Given the description of an element on the screen output the (x, y) to click on. 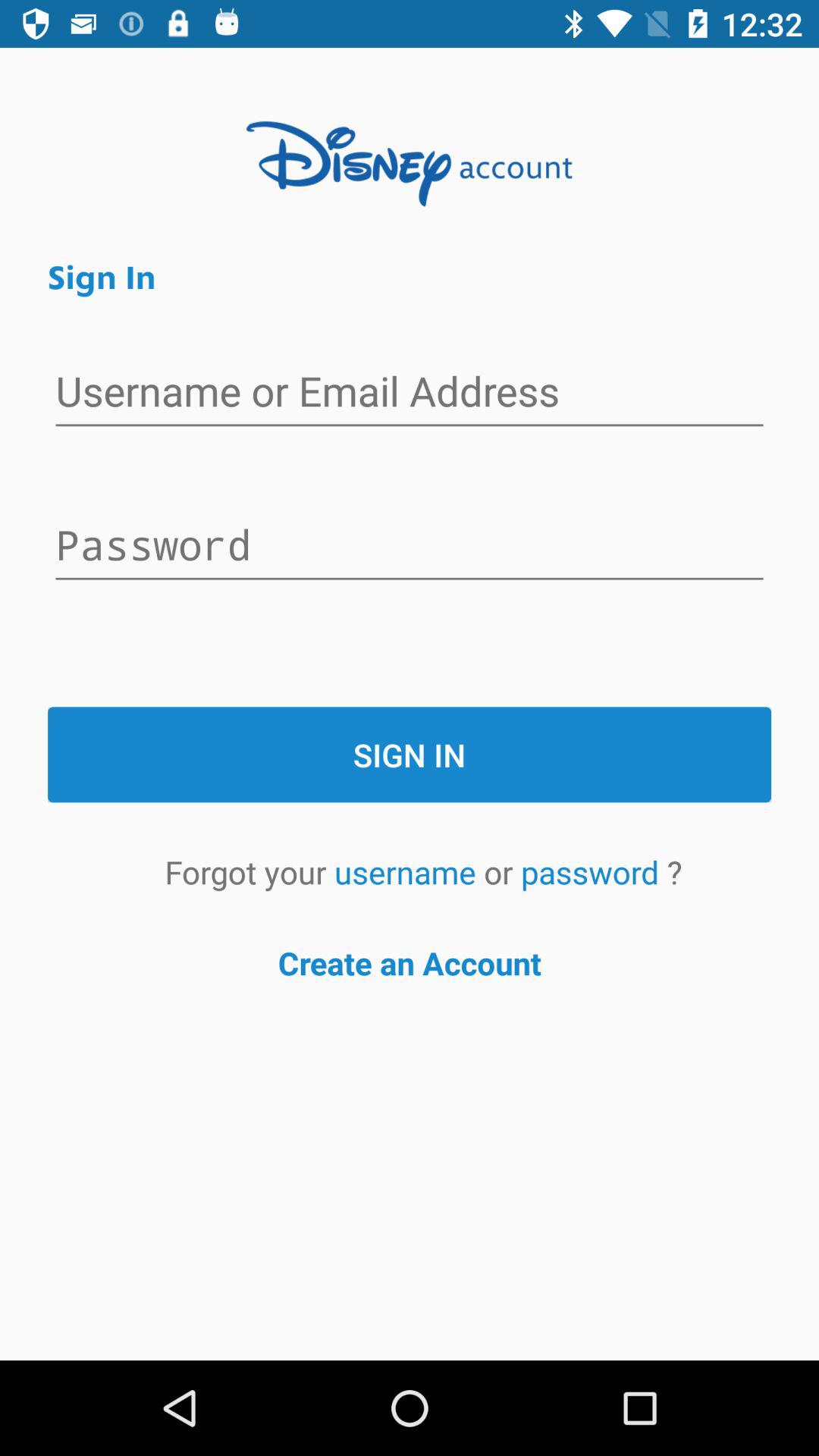
flip until the username  item (409, 871)
